Given the description of an element on the screen output the (x, y) to click on. 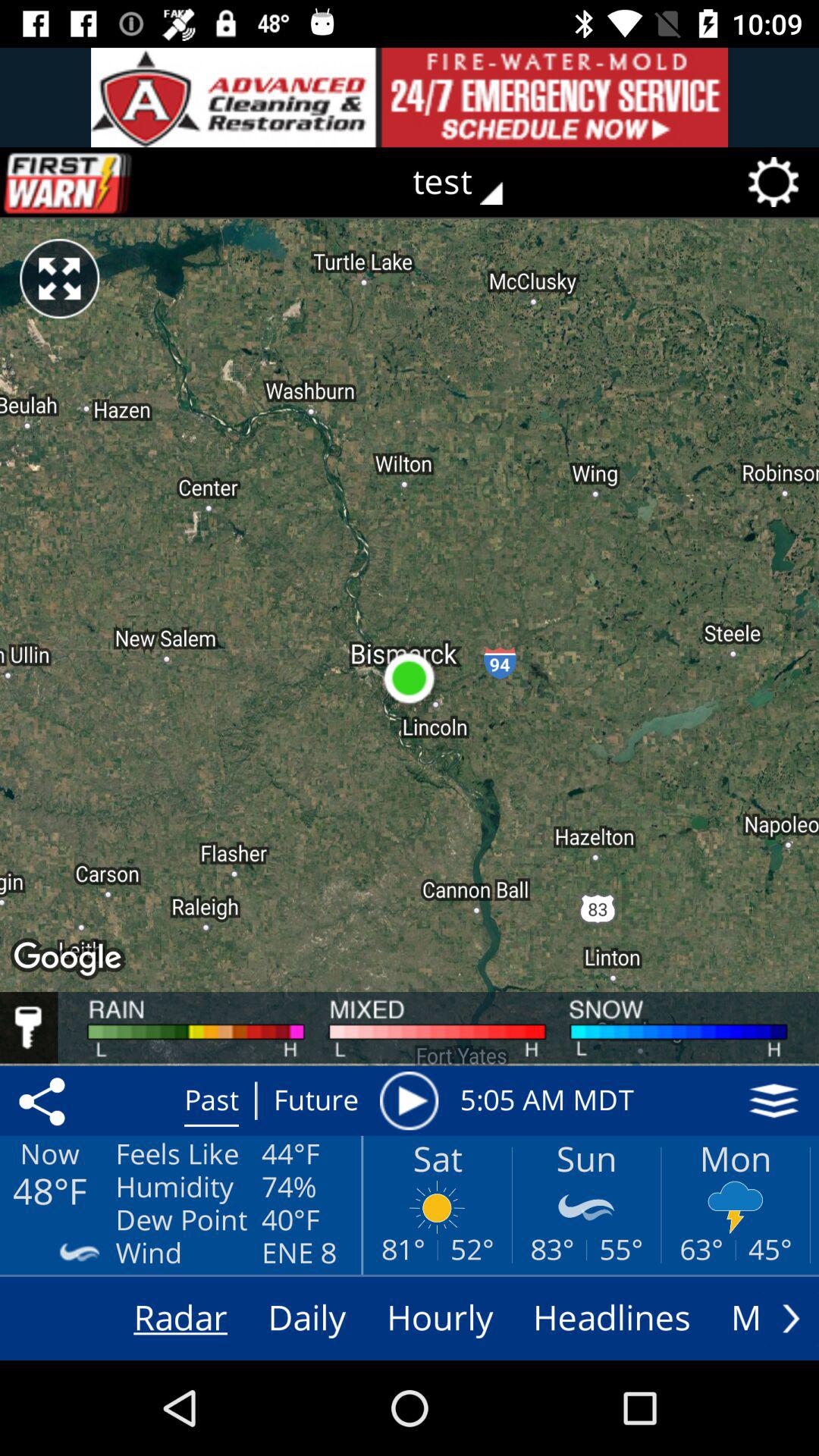
share (44, 1100)
